Given the description of an element on the screen output the (x, y) to click on. 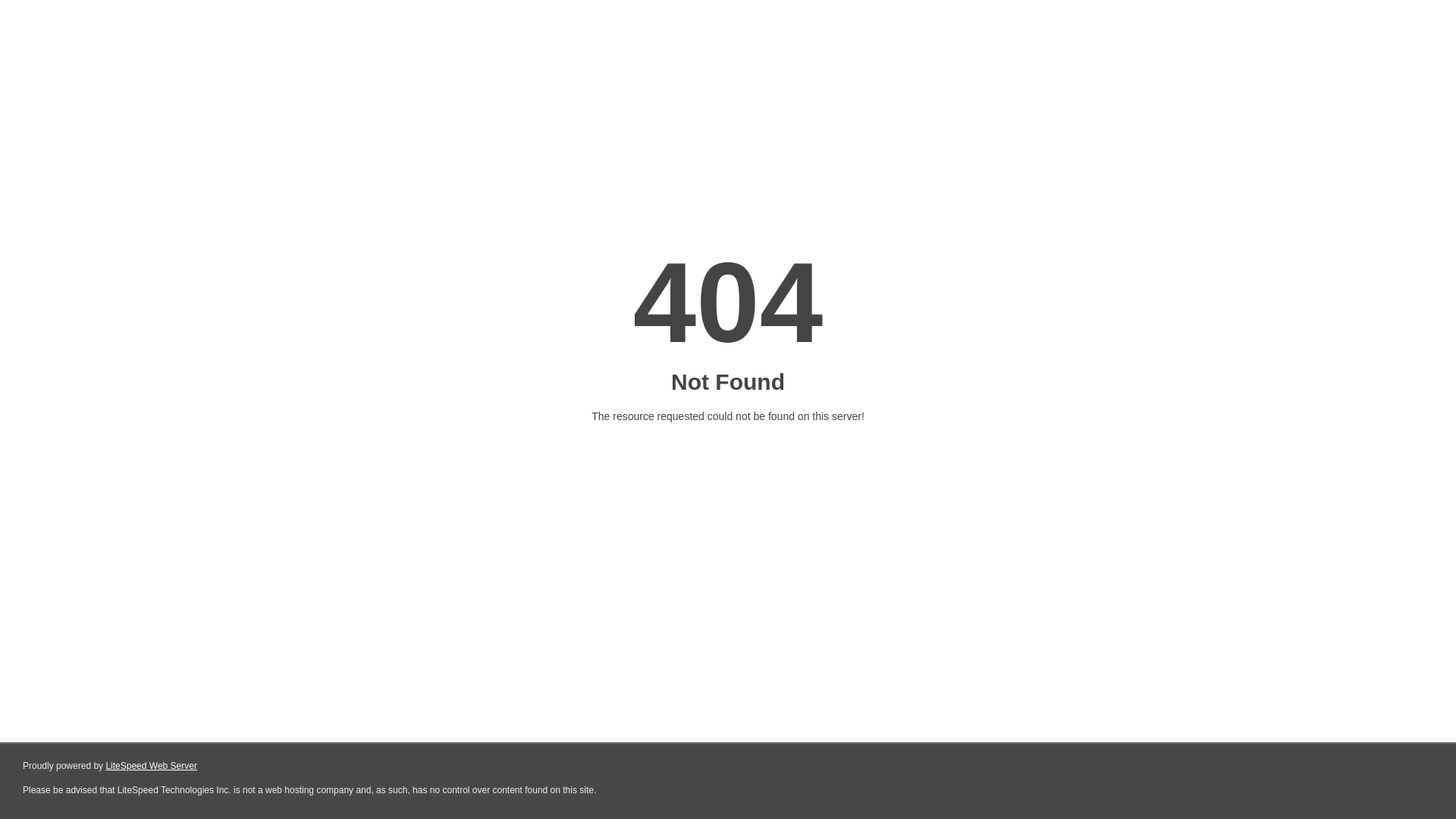
LiteSpeed Web Server Element type: text (151, 765)
